Given the description of an element on the screen output the (x, y) to click on. 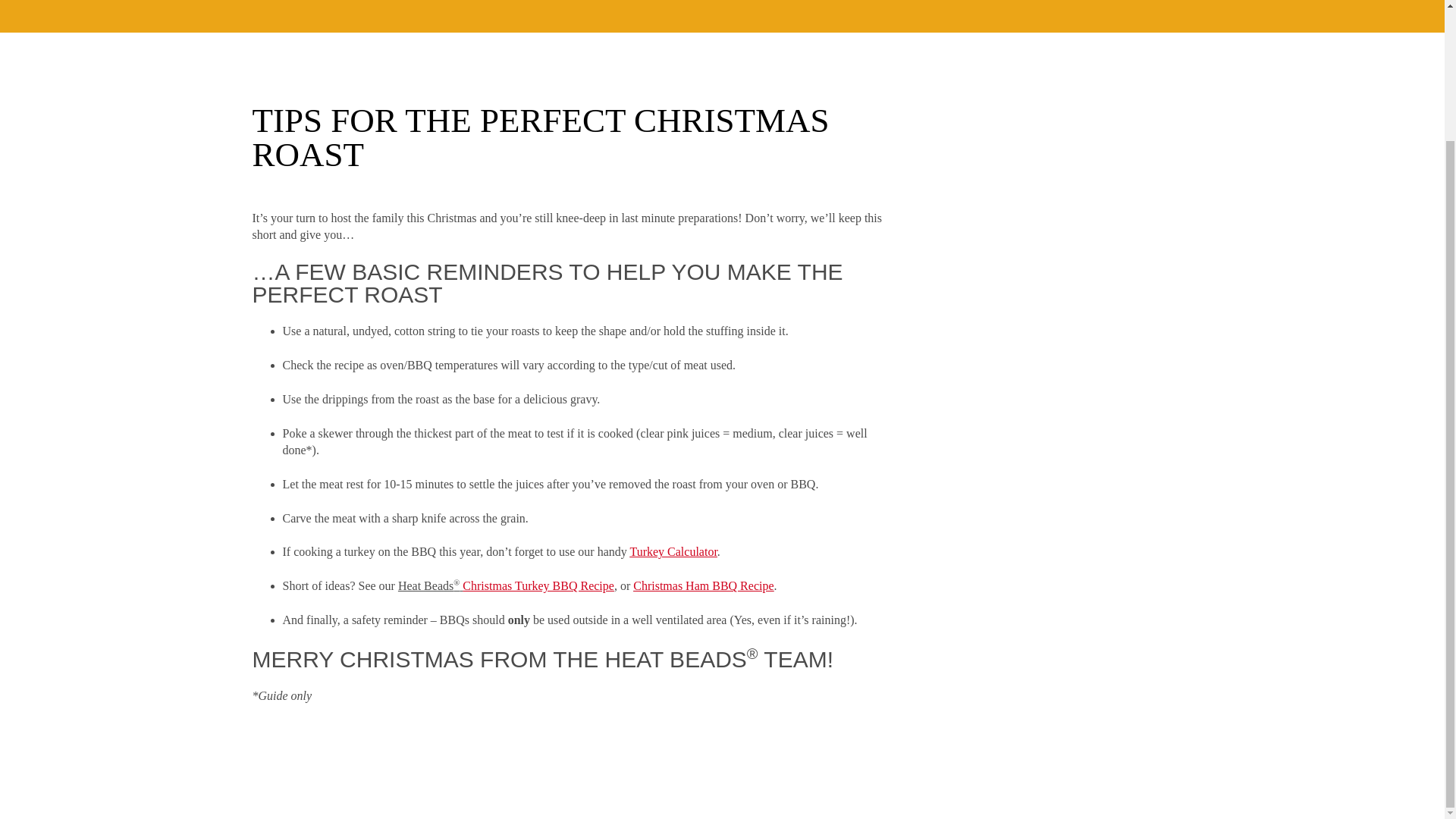
Christmas Turkey BBQ Recipe (538, 585)
Turkey Calculator (672, 551)
Christmas Ham BBQ Recipe (703, 585)
